Given the description of an element on the screen output the (x, y) to click on. 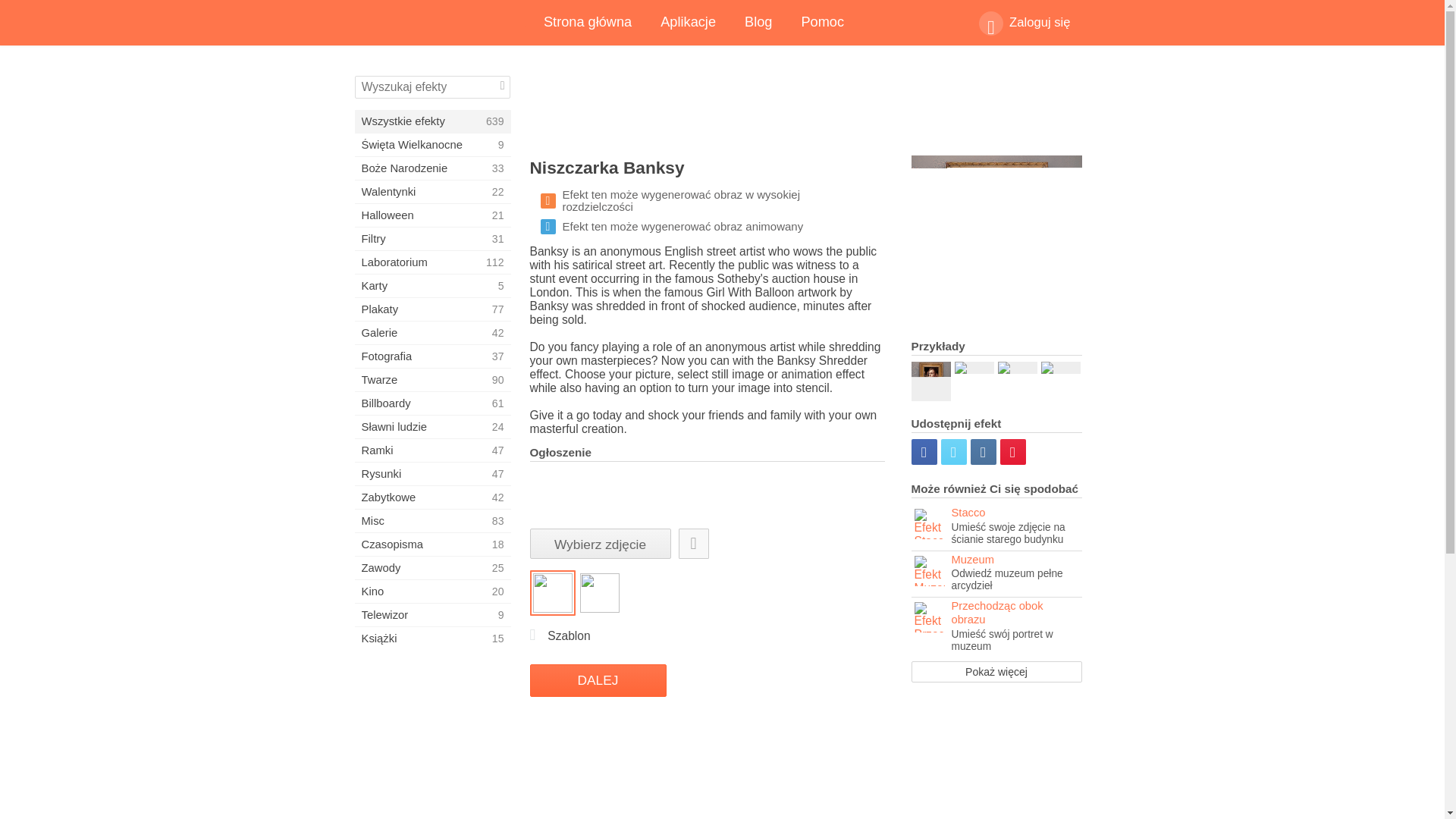
Pomoc (822, 22)
Blog (758, 22)
PhotoFunia (433, 120)
